Given the description of an element on the screen output the (x, y) to click on. 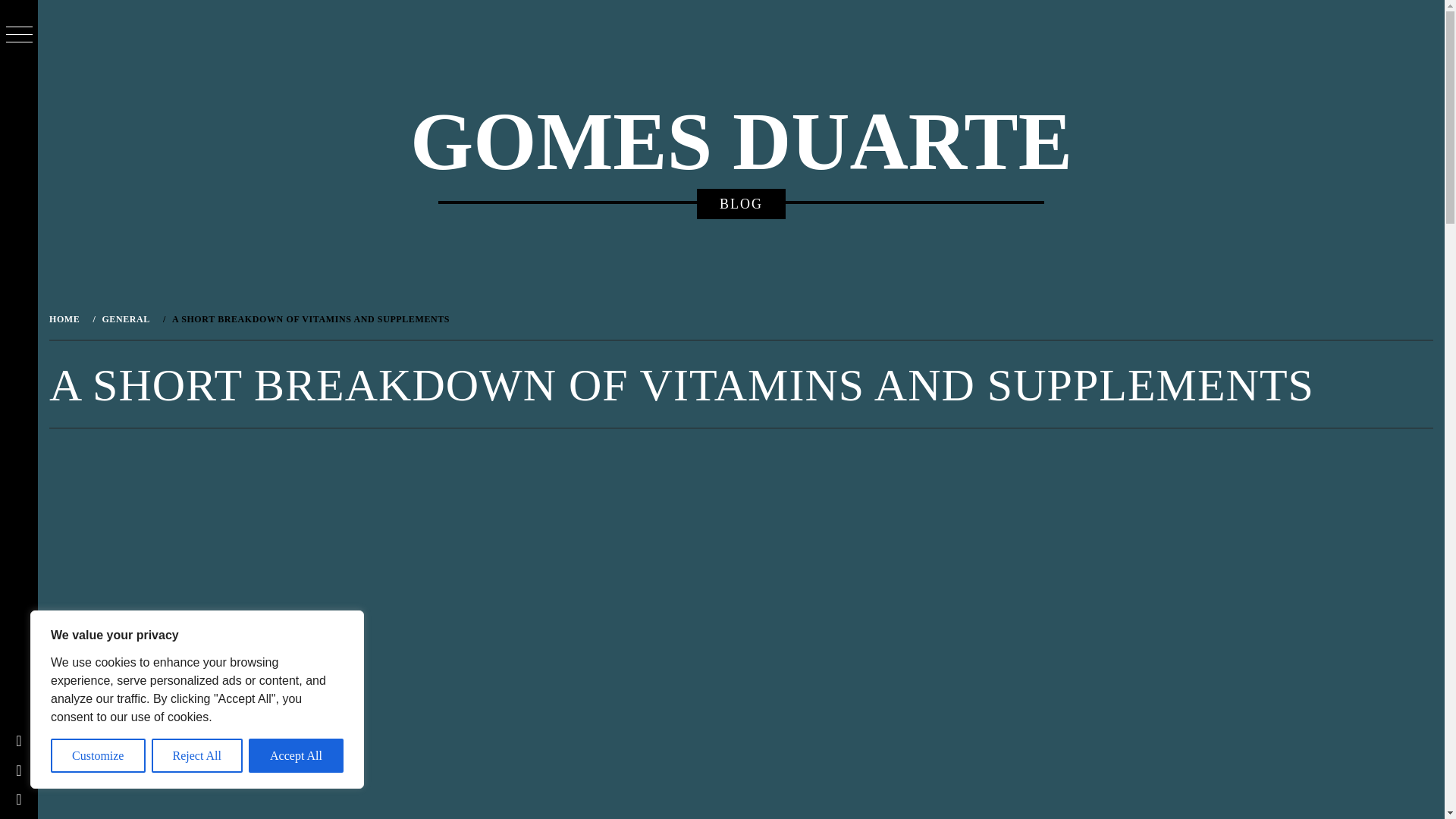
A SHORT BREAKDOWN OF VITAMINS AND SUPPLEMENTS (308, 318)
Customize (97, 755)
GOMES DUARTE (740, 141)
GENERAL (124, 318)
Reject All (197, 755)
HOME (66, 318)
Accept All (295, 755)
